Given the description of an element on the screen output the (x, y) to click on. 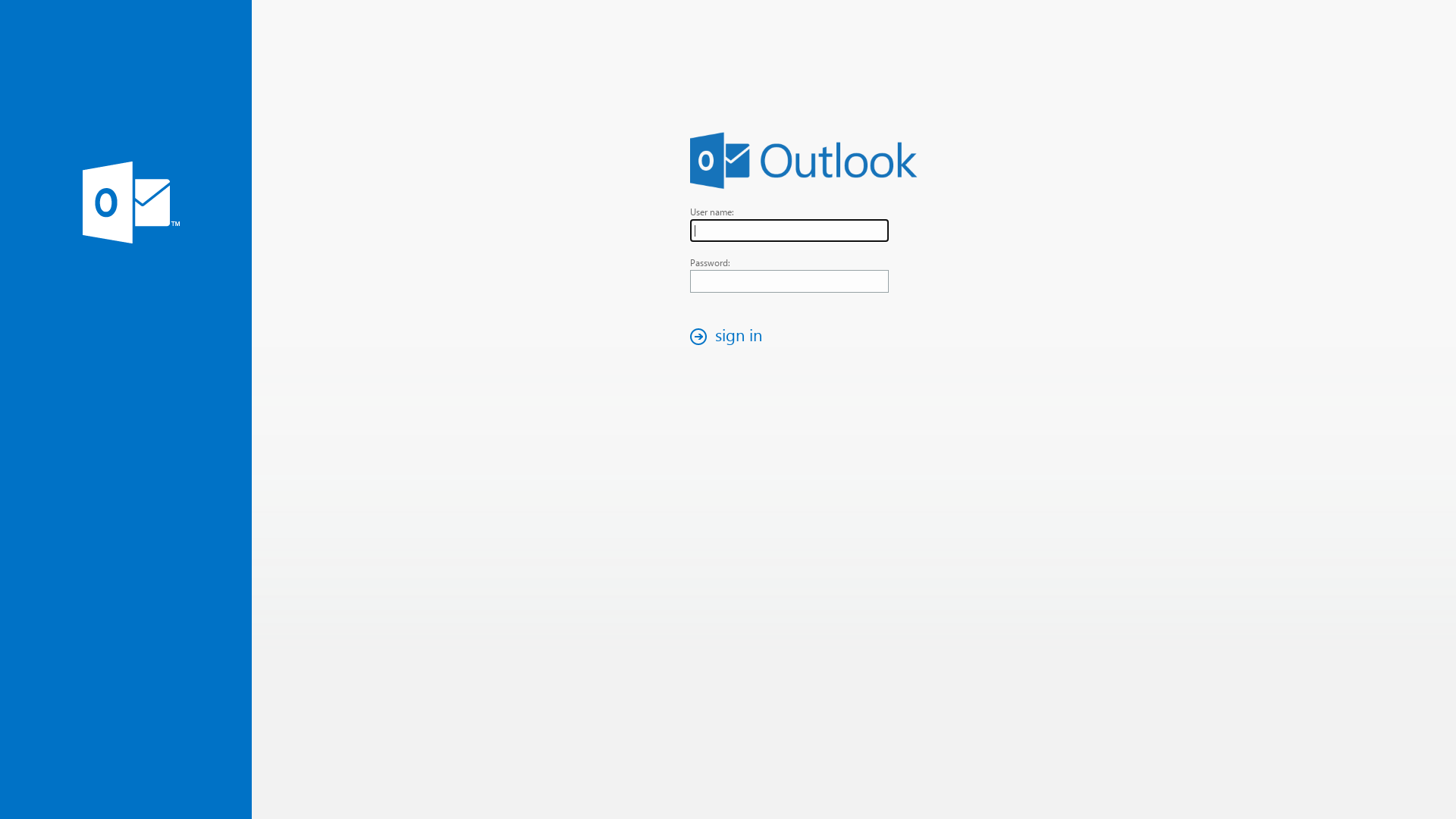
sign in Element type: text (730, 336)
